Given the description of an element on the screen output the (x, y) to click on. 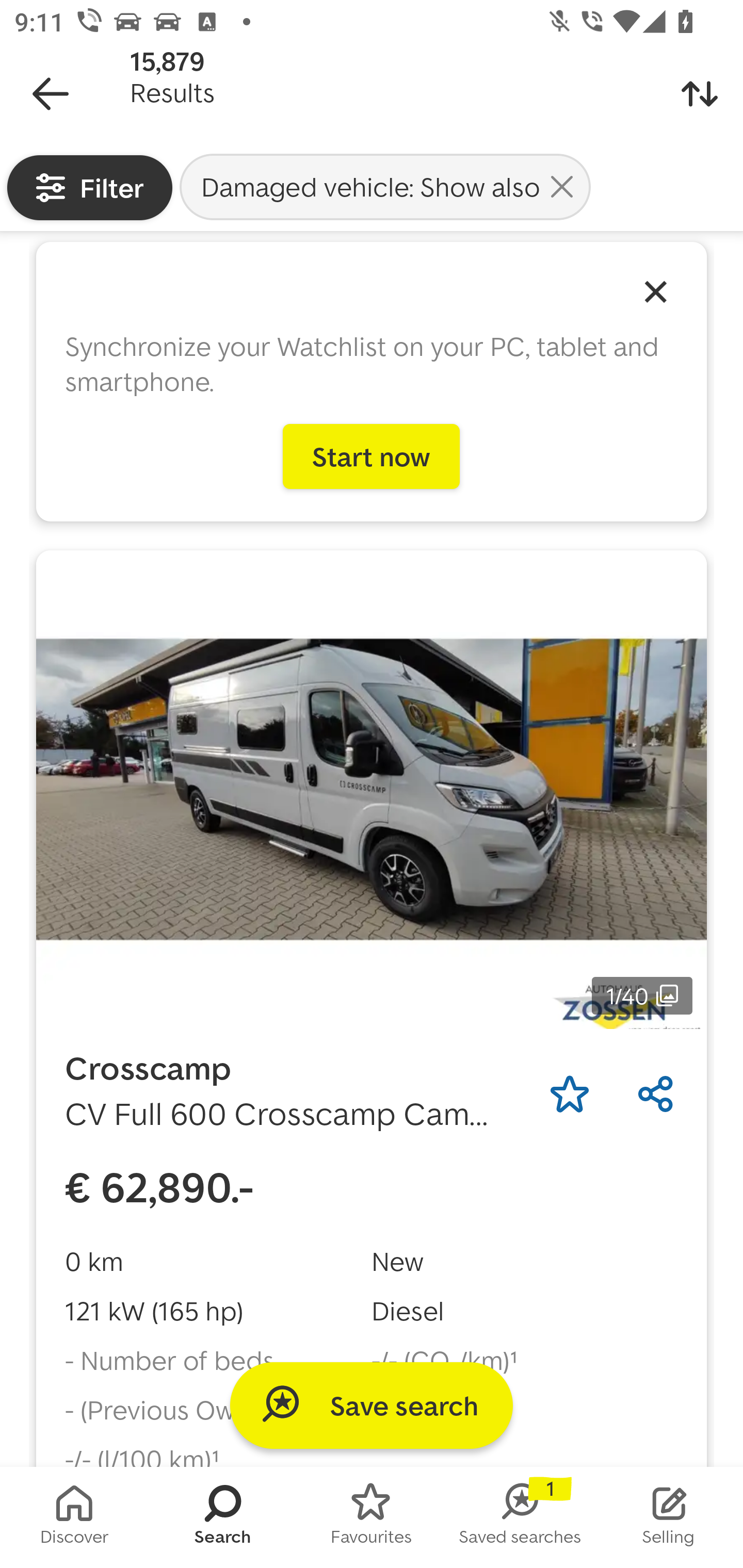
Navigate up (50, 93)
Sort (699, 93)
Filter (89, 187)
Damaged vehicle: Show also (385, 186)
Start now (371, 456)
Save search (371, 1405)
HOMESCREEN Discover (74, 1517)
SEARCH Search (222, 1517)
FAVORITES Favourites (371, 1517)
SAVED_SEARCHES Saved searches 1 (519, 1517)
STOCK_LIST Selling (668, 1517)
